Given the description of an element on the screen output the (x, y) to click on. 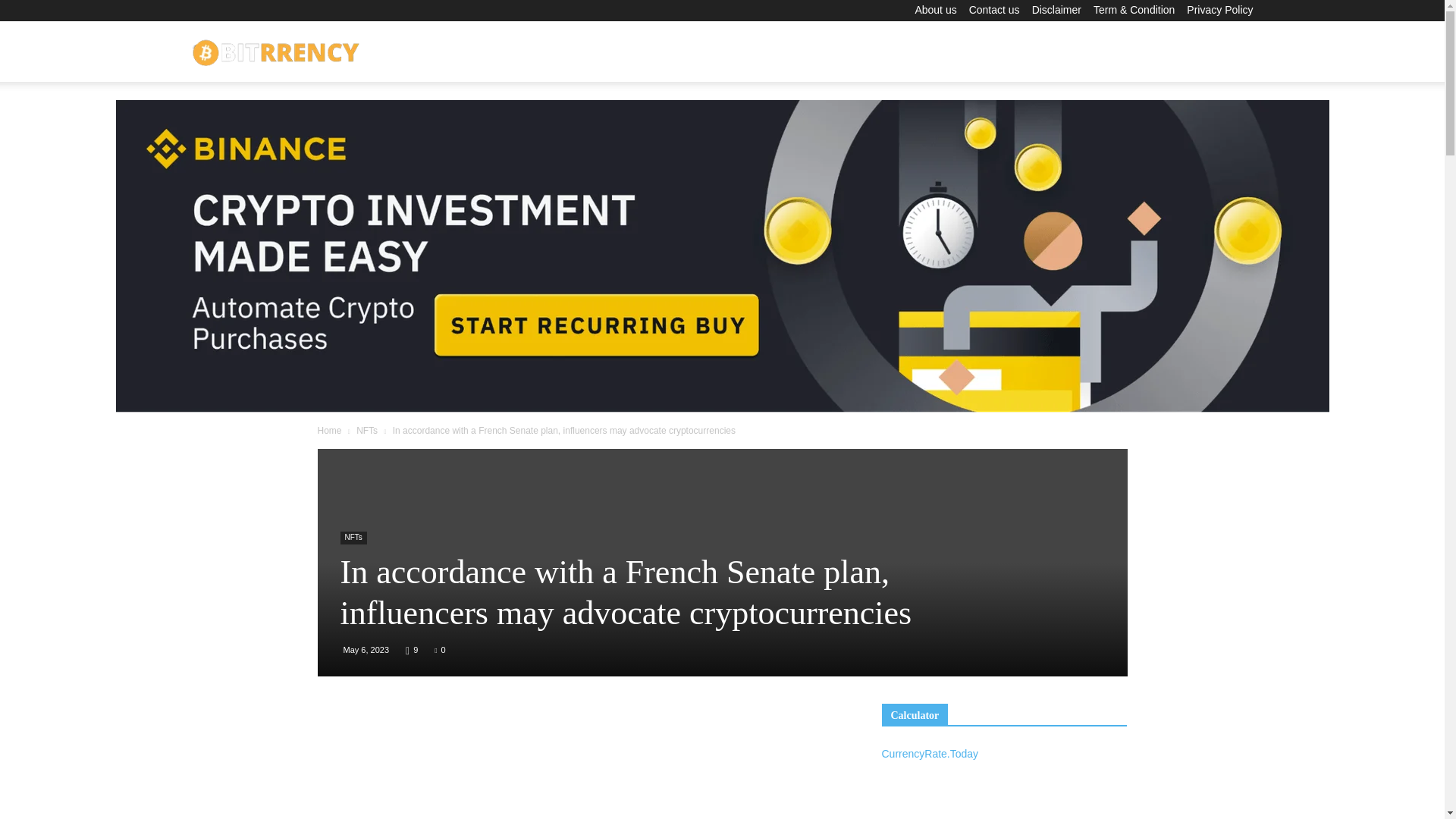
NFTs (366, 430)
Disclaimer (1056, 9)
Metaverse (1002, 51)
0 (439, 649)
About us (935, 9)
Privacy Policy (1219, 9)
Bitcoin (718, 51)
Search (1210, 124)
NFTs (352, 537)
Bitrrency (275, 51)
